Given the description of an element on the screen output the (x, y) to click on. 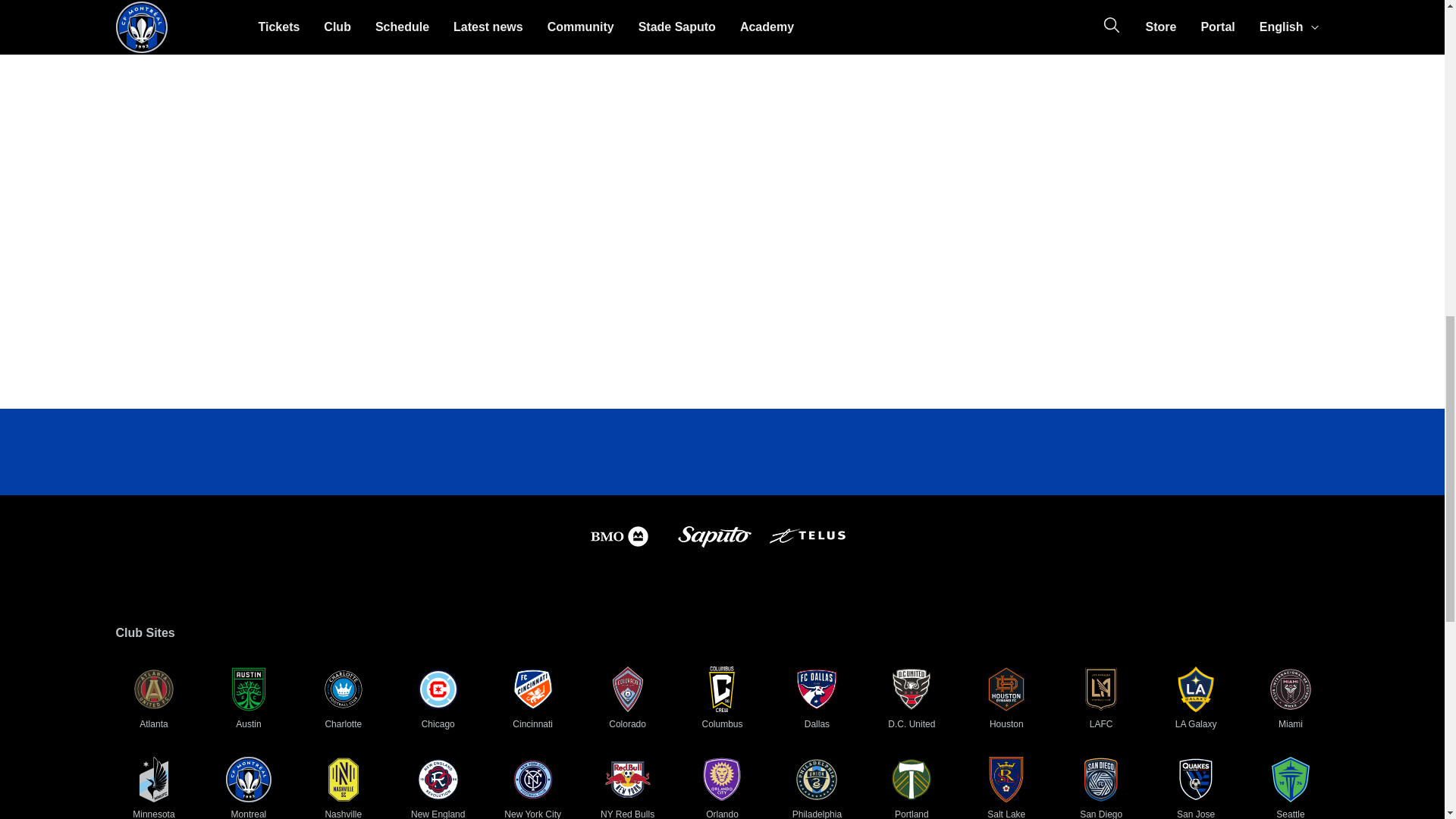
TELUS (806, 554)
Saputo (713, 554)
Link to Houston (1006, 688)
Link to Dallas (816, 688)
Link to Austin (247, 688)
Link to Atlanta (153, 688)
Link to Cincinnati (533, 688)
Link to Chicago (437, 688)
3rd party ad content (1094, 7)
Link to D.C. United (911, 688)
Link to Colorado (627, 688)
Link to Columbus (721, 688)
Link to Charlotte (343, 688)
BMO (618, 554)
